Given the description of an element on the screen output the (x, y) to click on. 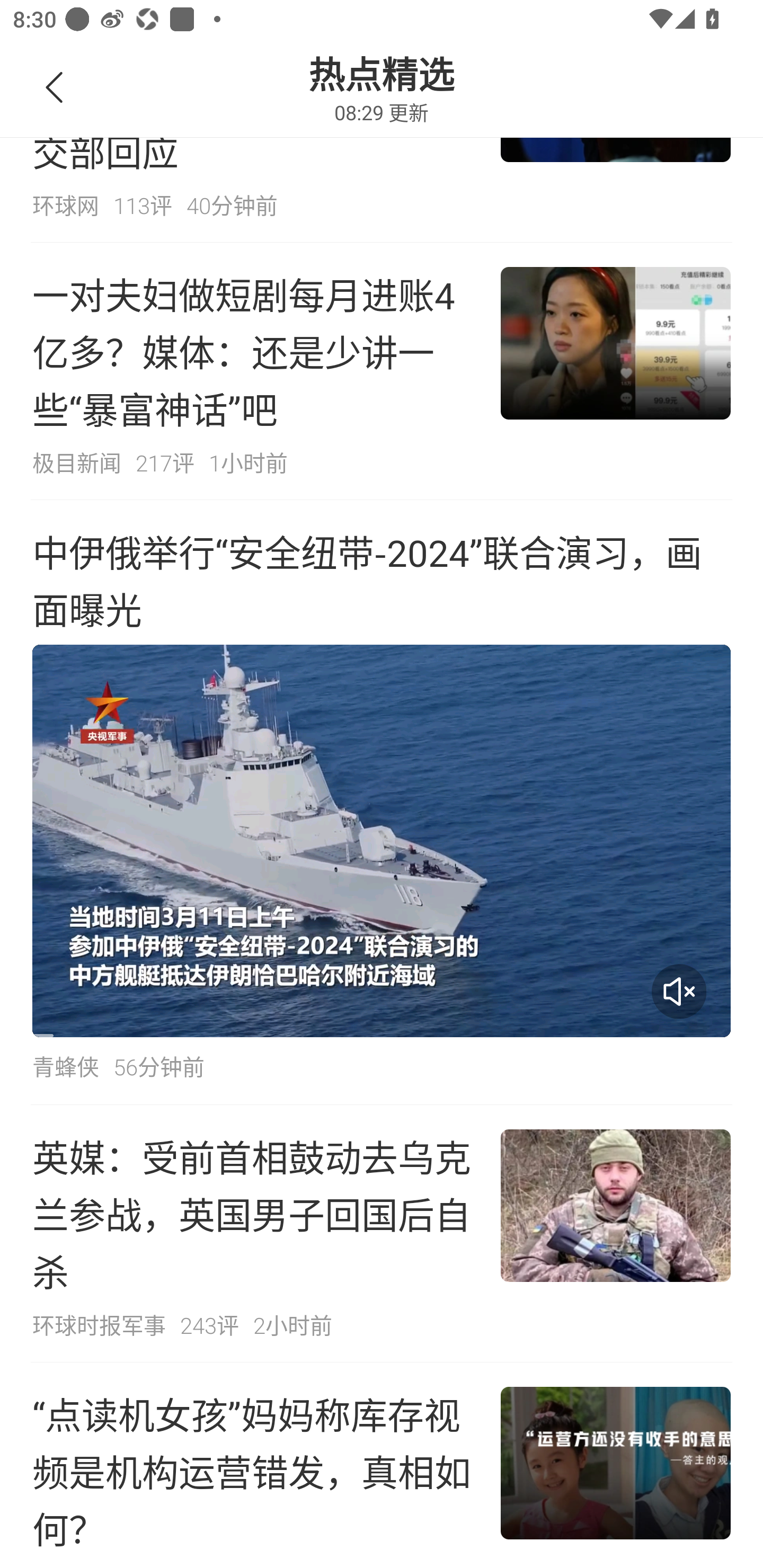
 返回 热点精选 08:29 更新 (381, 68)
 返回 (54, 87)
一对夫妇做短剧每月进账4亿多？媒体：还是少讲一些“暴富神话”吧 极目新闻 217评 1小时前 (381, 371)
音量开关 (678, 991)
英媒：受前首相鼓动去乌克兰参战，英国男子回国后自杀 环球时报军事 243评 2小时前 (381, 1233)
“点读机女孩”妈妈称库存视频是机构运营错发，真相如何？ (381, 1465)
